Given the description of an element on the screen output the (x, y) to click on. 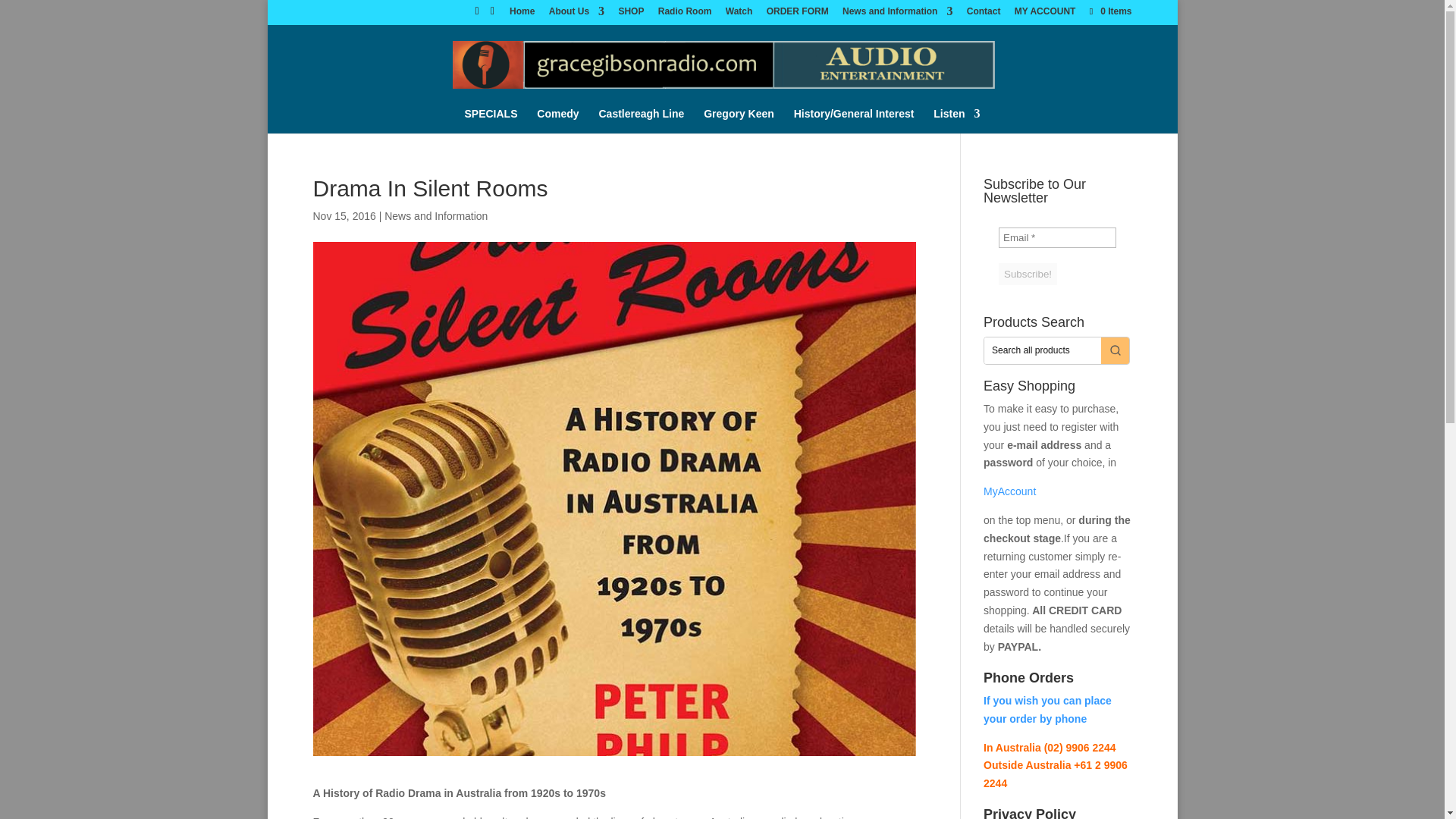
About Us (576, 14)
Castlereagh Line (641, 119)
Search all products (1042, 350)
Search all products (1042, 350)
Subscribe! (1027, 273)
SPECIALS (490, 119)
Listen (956, 119)
0 Items (1108, 10)
Home (521, 14)
News and Information (897, 14)
